Given the description of an element on the screen output the (x, y) to click on. 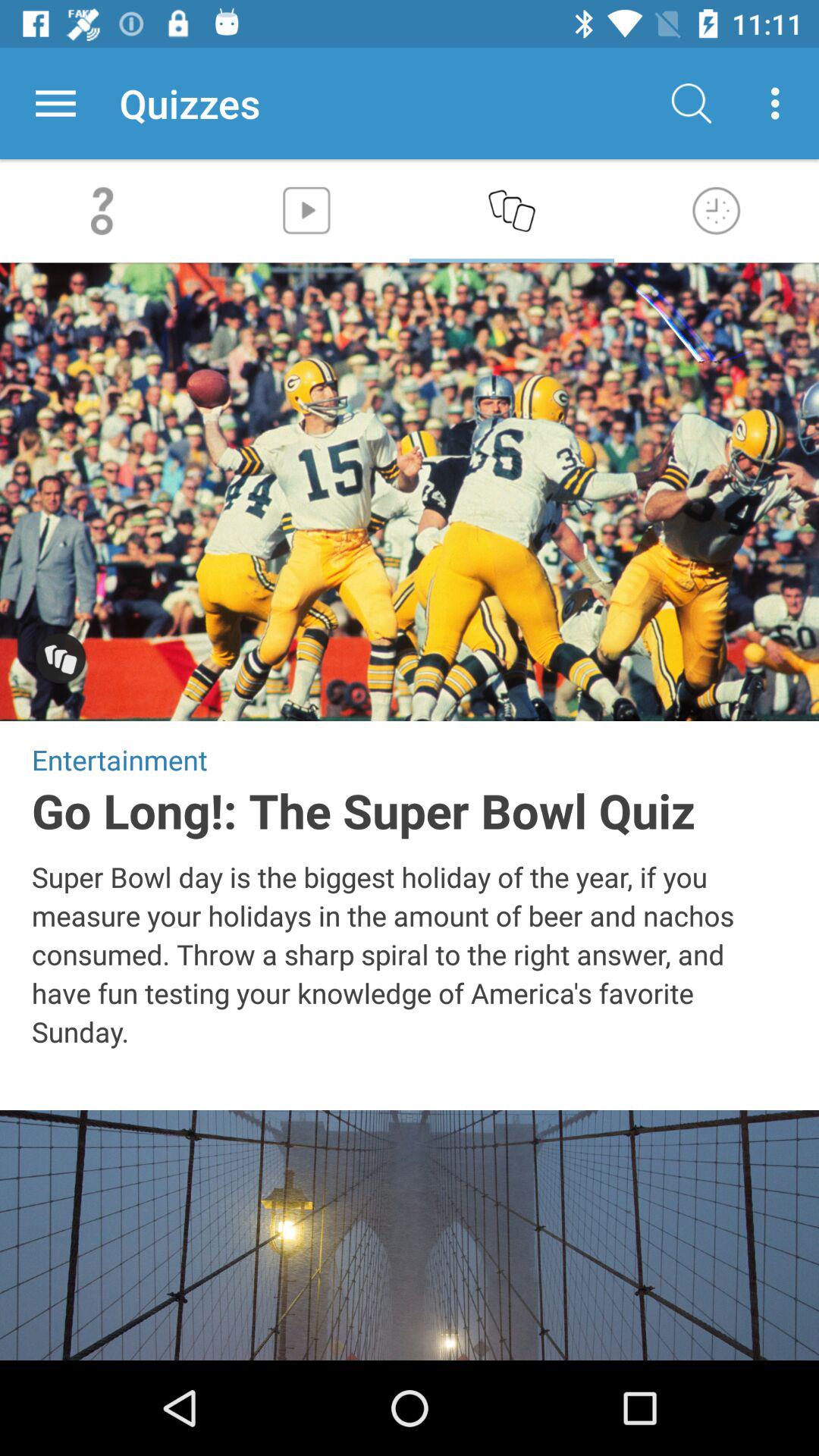
launch icon to the left of the quizzes app (55, 103)
